Given the description of an element on the screen output the (x, y) to click on. 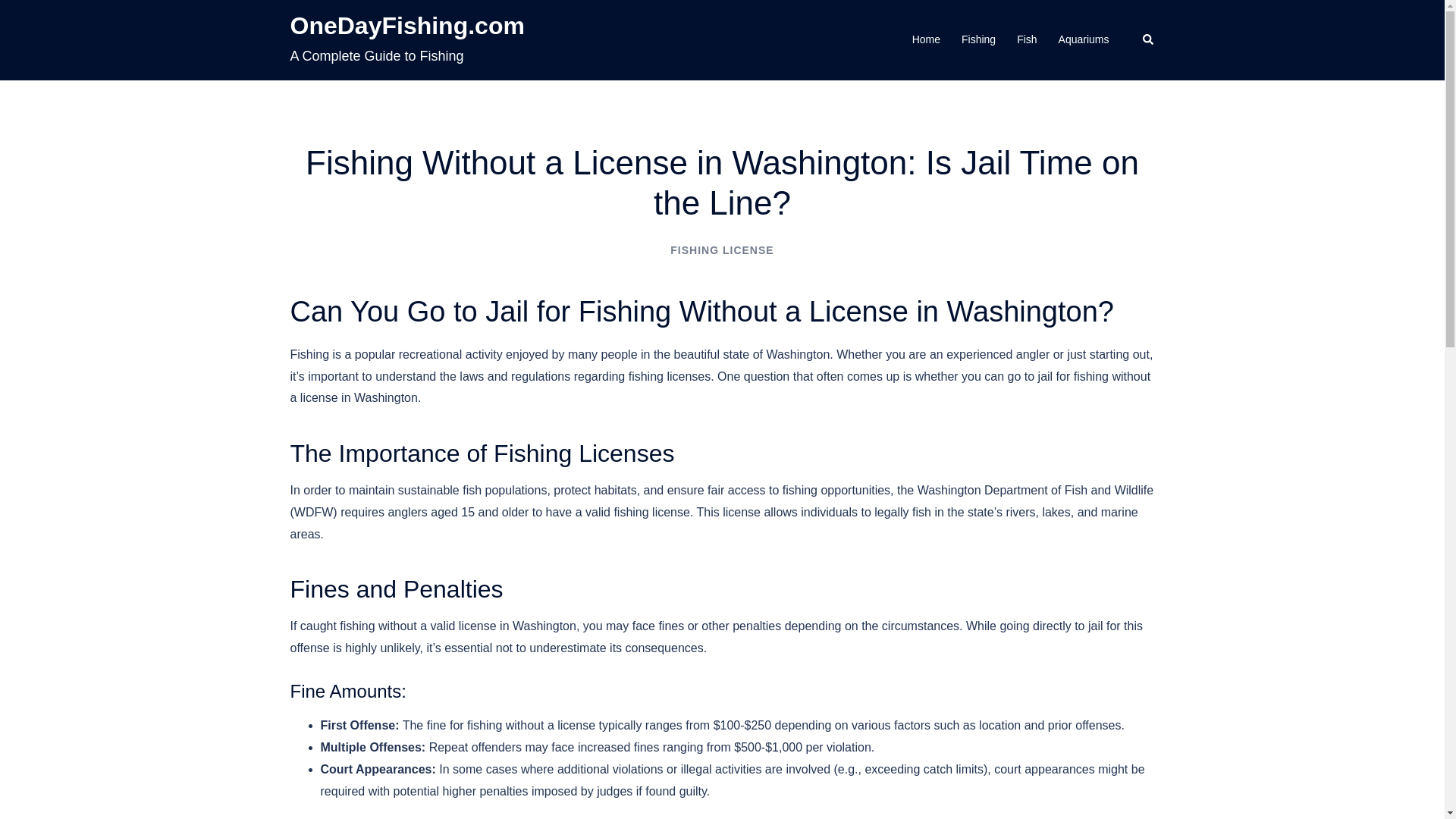
Search (1147, 39)
FISHING LICENSE (721, 250)
Home (926, 39)
Fishing (977, 39)
OneDayFishing.com (406, 25)
Fish (1026, 39)
Aquariums (1083, 39)
